Given the description of an element on the screen output the (x, y) to click on. 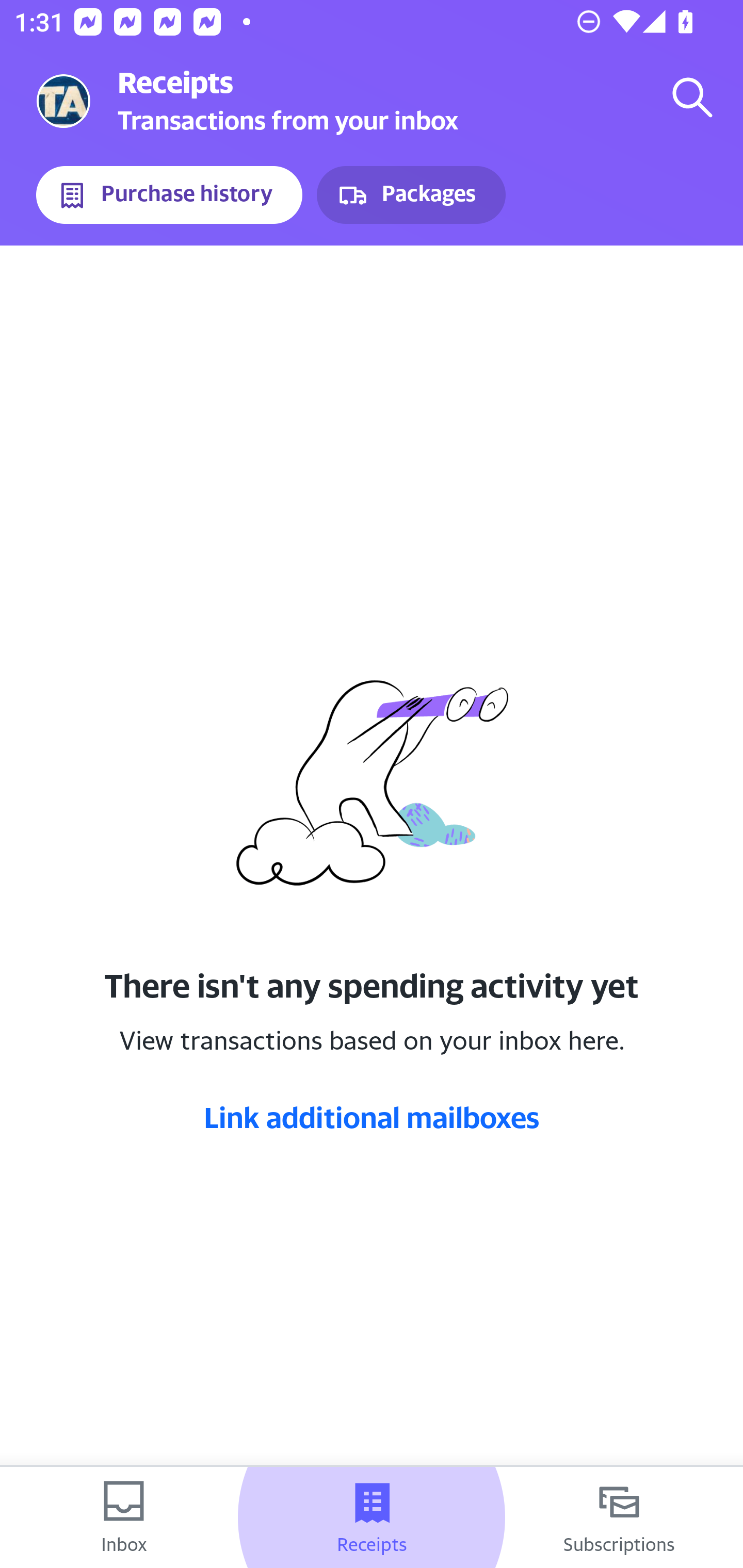
Search mail (692, 97)
Packages (410, 195)
Link additional mailboxes (371, 1117)
Inbox (123, 1517)
Receipts (371, 1517)
Subscriptions (619, 1517)
